Given the description of an element on the screen output the (x, y) to click on. 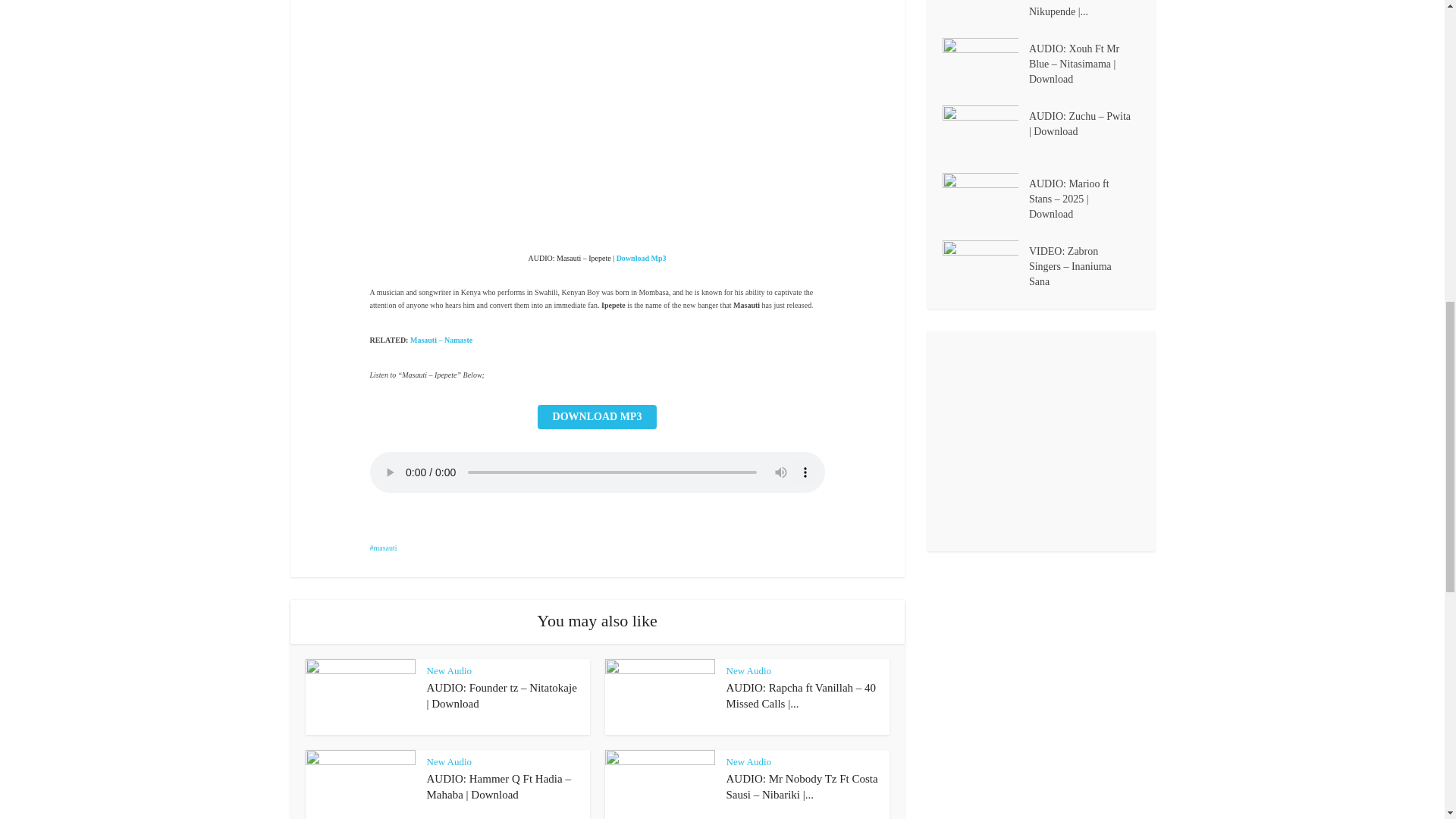
DOWNLOAD MP3 (597, 416)
New Audio (448, 670)
masauti (383, 547)
New Audio (448, 761)
New Audio (748, 670)
New Audio (748, 761)
Download Mp3 (640, 257)
